Given the description of an element on the screen output the (x, y) to click on. 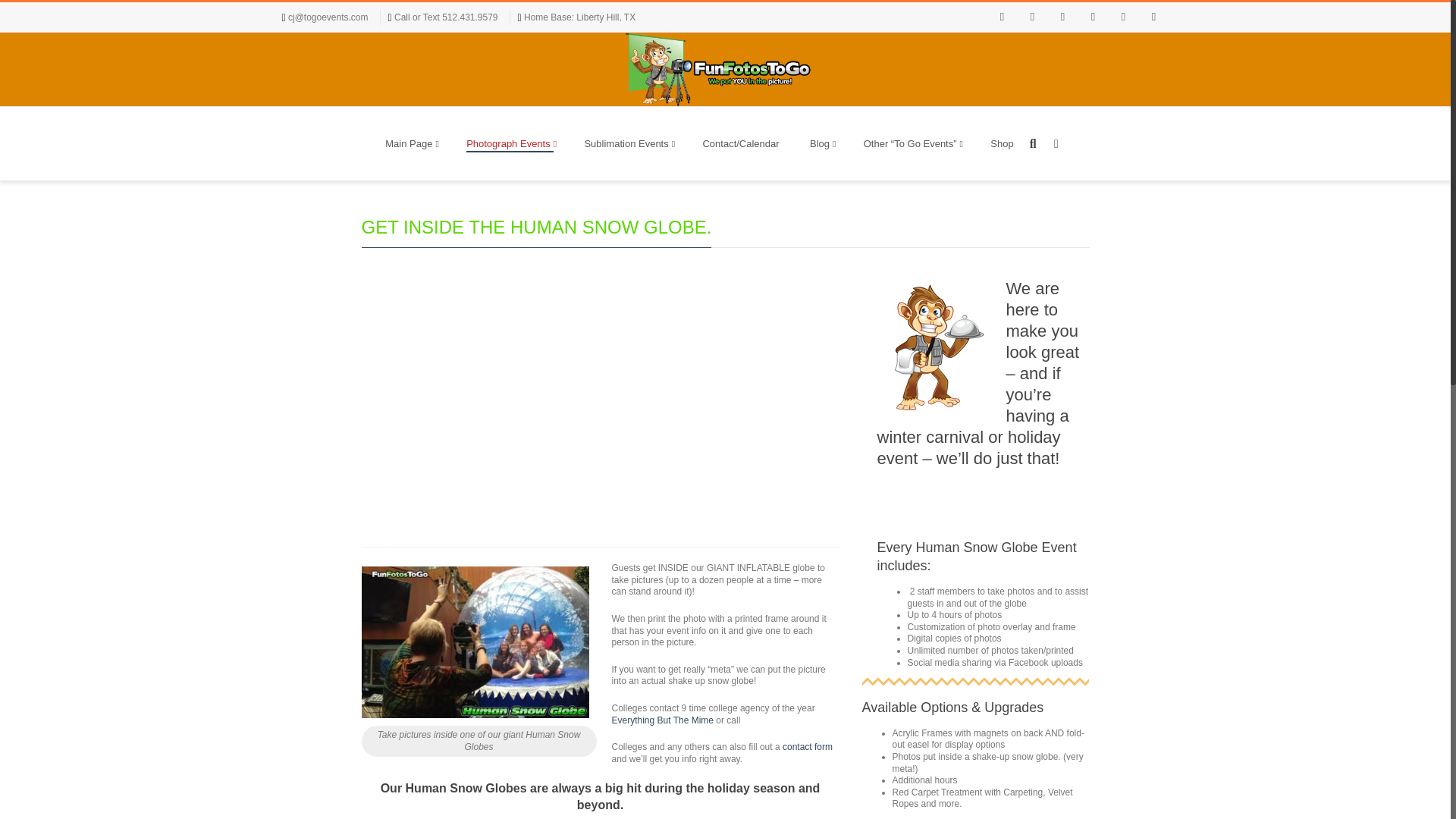
Sublimation Events (627, 143)
These events are all sublimation based						 (627, 143)
Photograph Events (509, 143)
These events are photograph based						 (509, 143)
Fun Fotos To Go (717, 69)
Main Page (410, 143)
